Given the description of an element on the screen output the (x, y) to click on. 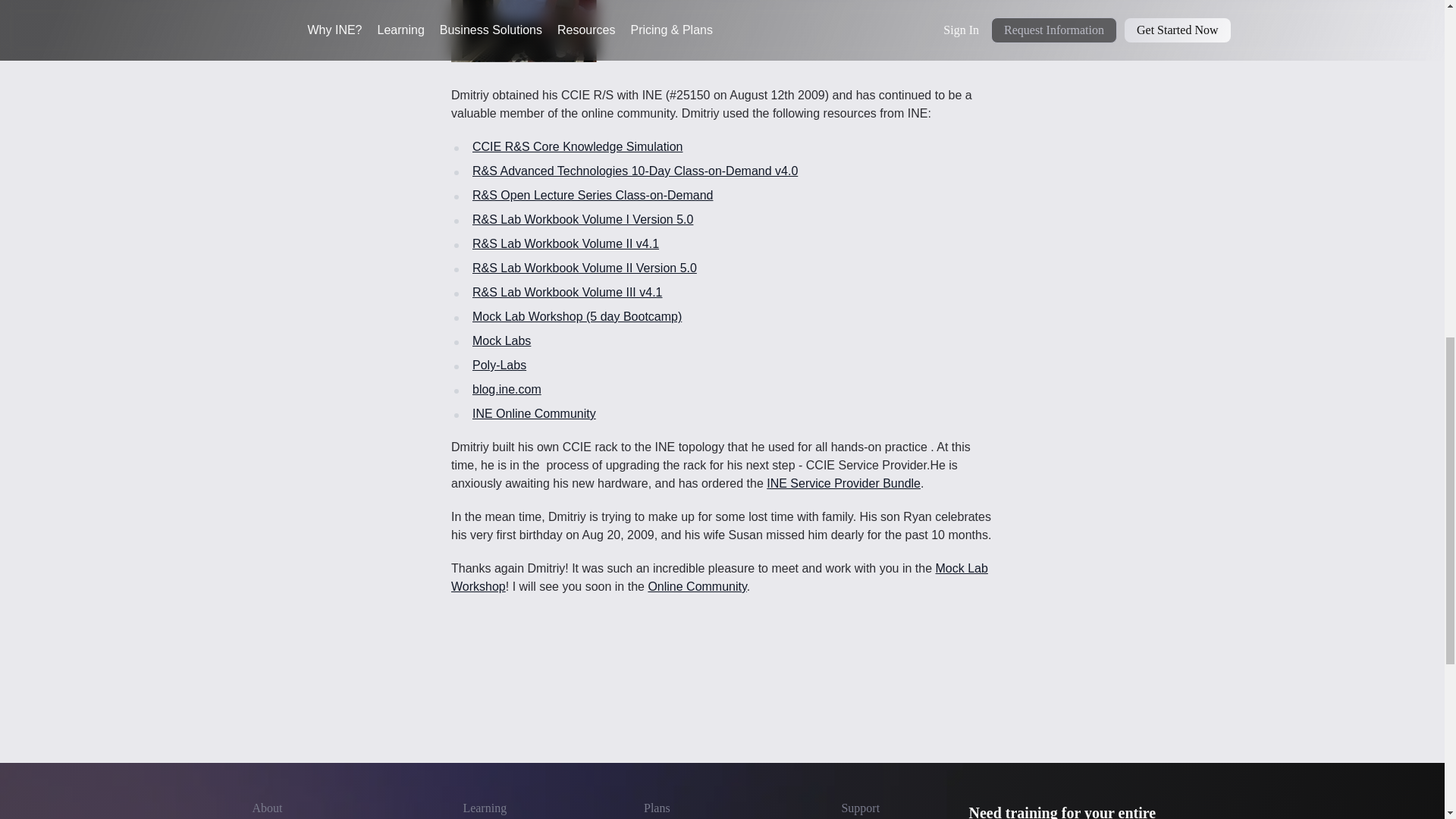
Mock Lab Workshop (719, 576)
Poly-Labs (498, 364)
INE Service Provider Bundle (843, 482)
Mock Labs (501, 340)
blog.ine.com (506, 389)
Online Community (696, 585)
INE Online Community (533, 413)
